Given the description of an element on the screen output the (x, y) to click on. 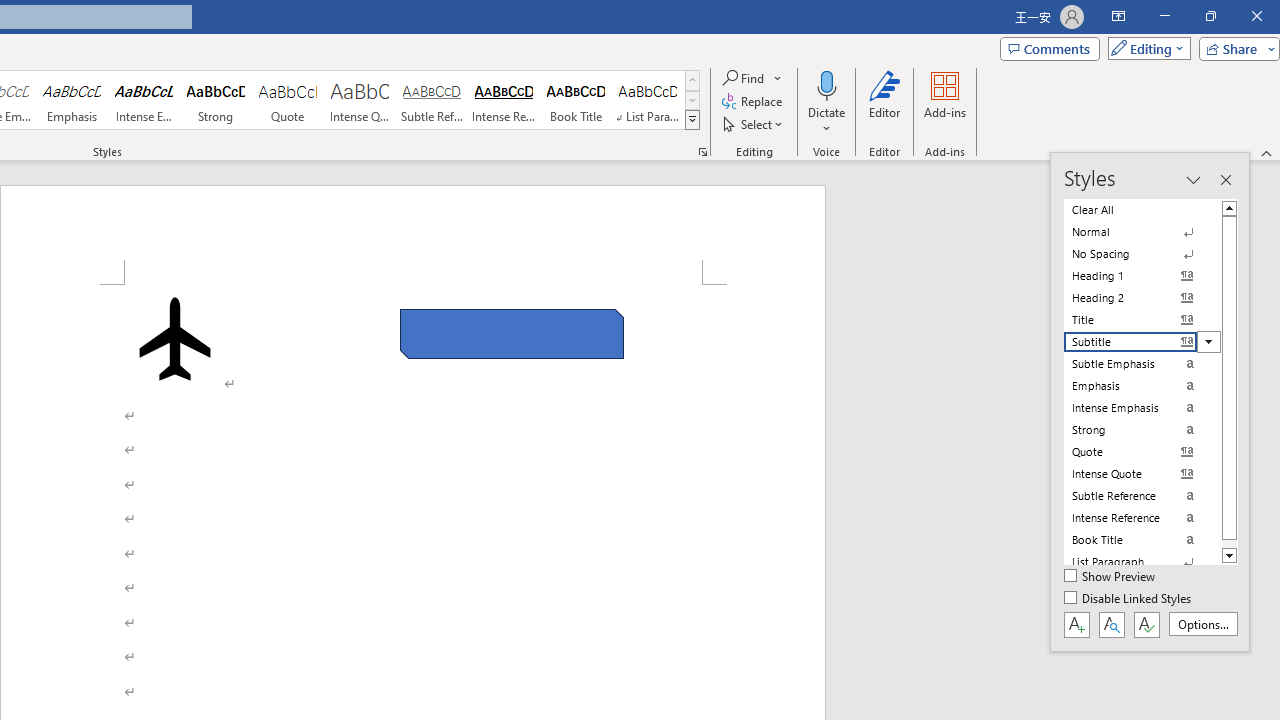
Editor (885, 102)
Show Preview (1110, 577)
Restore Down (1210, 16)
Options... (1202, 623)
Class: MsoCommandBar (1149, 401)
Close pane (1225, 179)
Subtitle (1142, 341)
Minimize (1164, 16)
Find (744, 78)
Row Down (692, 100)
Normal (1142, 232)
Intense Emphasis (143, 100)
Class: NetUIImage (692, 119)
Collapse the Ribbon (1267, 152)
Styles (692, 120)
